Given the description of an element on the screen output the (x, y) to click on. 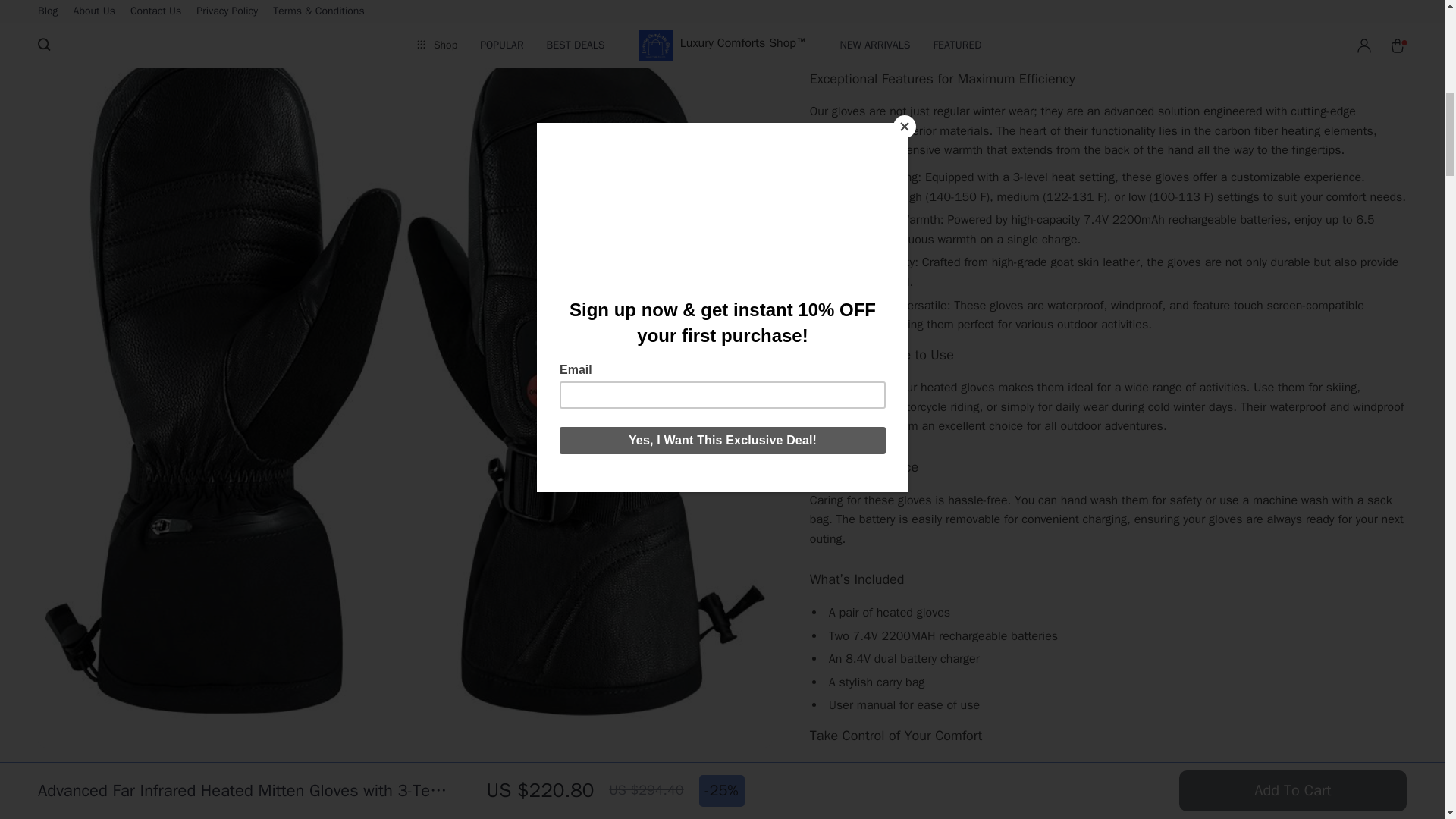
17148-5d40e0.jpg (404, 790)
